Given the description of an element on the screen output the (x, y) to click on. 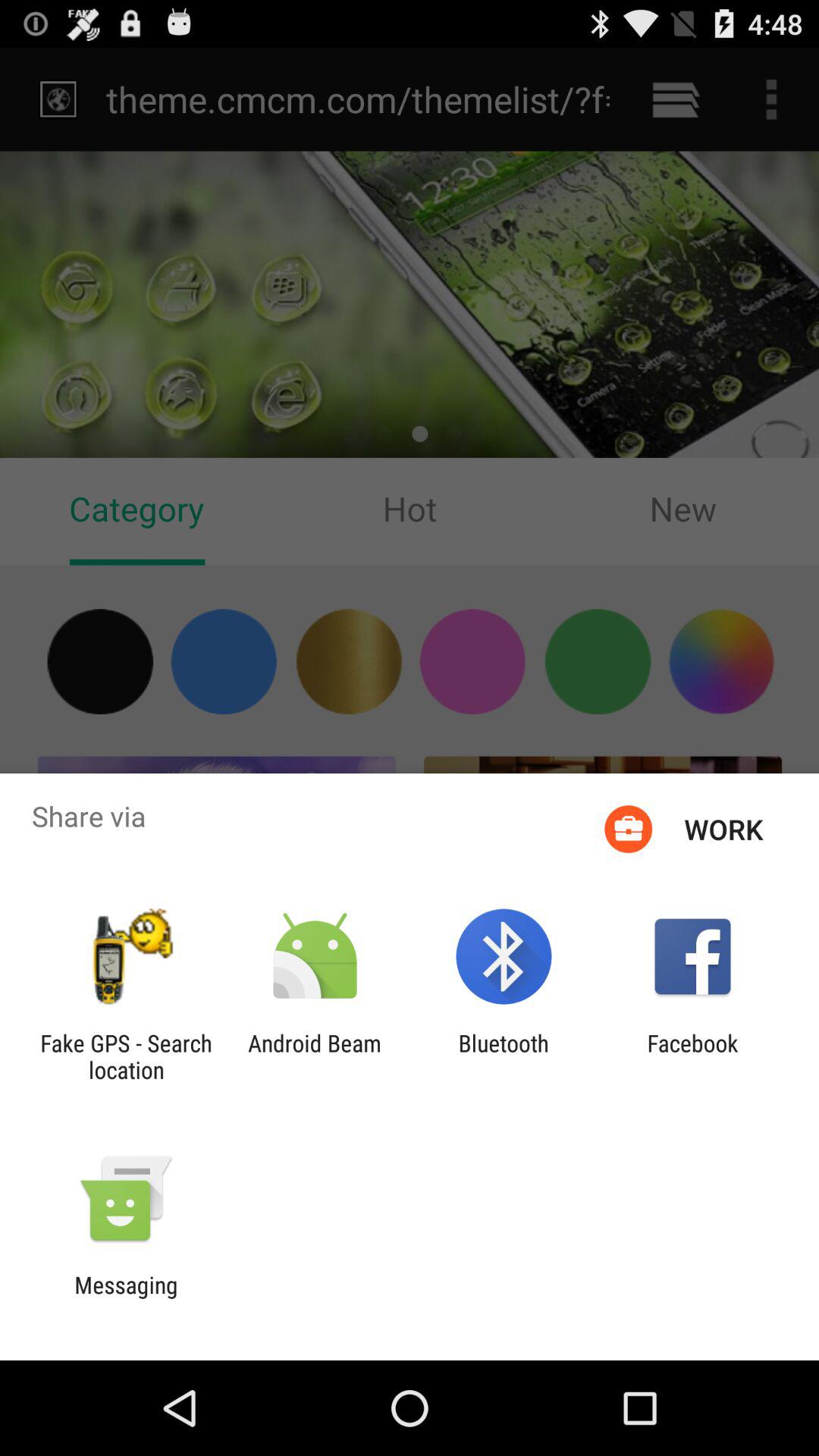
choose the app to the right of fake gps search item (314, 1056)
